Given the description of an element on the screen output the (x, y) to click on. 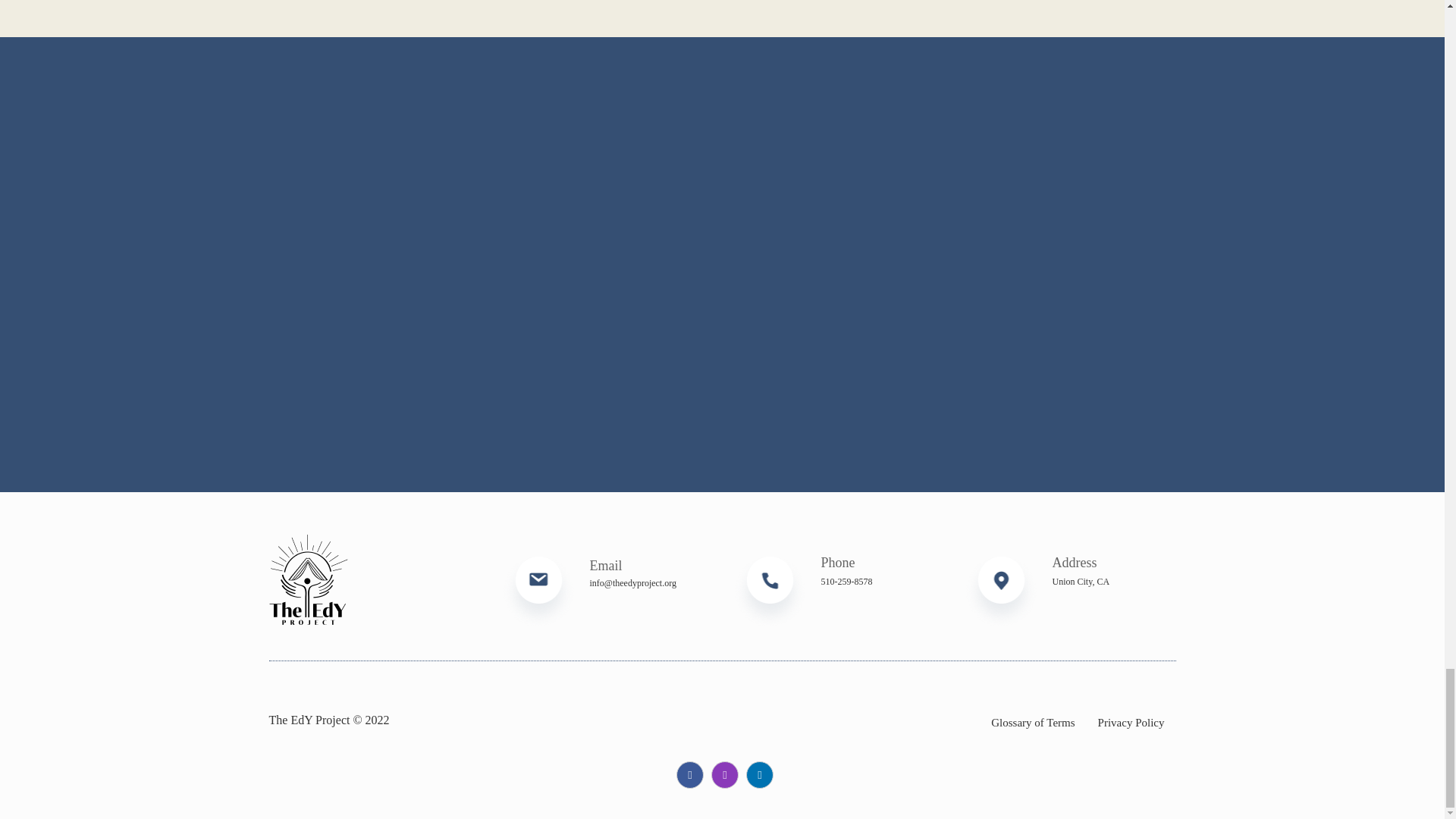
submit (394, 117)
510-259-8578 (846, 581)
Glossary of Terms (1032, 711)
Privacy Policy (1131, 711)
